Given the description of an element on the screen output the (x, y) to click on. 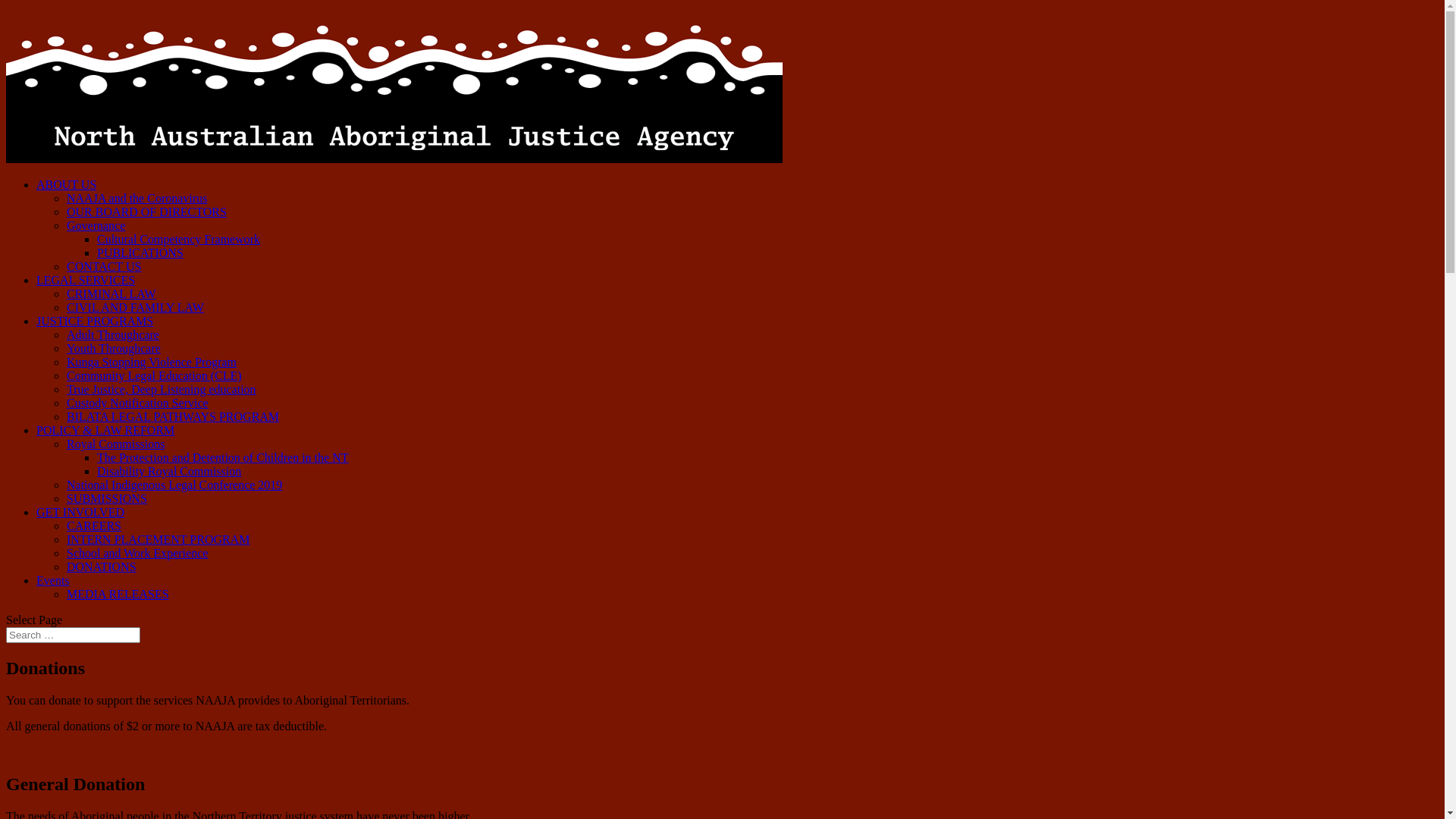
Cultural Competency Framework Element type: text (178, 238)
National Indigenous Legal Conference 2019 Element type: text (174, 484)
OUR BOARD OF DIRECTORS Element type: text (146, 211)
CAREERS Element type: text (93, 525)
True Justice, Deep Listening education Element type: text (161, 388)
ABOUT US Element type: text (66, 184)
PUBLICATIONS Element type: text (140, 252)
BILATA LEGAL PATHWAYS PROGRAM Element type: text (172, 416)
DONATIONS Element type: text (101, 566)
The Protection and Detention of Children in the NT Element type: text (222, 457)
Events Element type: text (52, 580)
SUBMISSIONS Element type: text (106, 498)
Disability Royal Commission Element type: text (169, 470)
Custody Notification Service Element type: text (137, 402)
Royal Commissions Element type: text (115, 443)
CONTACT US Element type: text (103, 266)
School and Work Experience Element type: text (136, 552)
CIVIL AND FAMILY LAW Element type: text (134, 307)
Kunga Stopping Violence Program Element type: text (151, 361)
INTERN PLACEMENT PROGRAM Element type: text (158, 539)
Community Legal Education (CLE) Element type: text (153, 375)
NAAJA and the Coronavirus Element type: text (136, 197)
Search for: Element type: hover (73, 635)
MEDIA RELEASES Element type: text (117, 593)
CRIMINAL LAW Element type: text (111, 293)
LEGAL SERVICES Element type: text (85, 279)
Governance Element type: text (95, 225)
Youth Throughcare Element type: text (113, 348)
Adult Throughcare Element type: text (112, 334)
JUSTICE PROGRAMS Element type: text (94, 320)
POLICY & LAW REFORM Element type: text (105, 429)
GET INVOLVED Element type: text (80, 511)
